Given the description of an element on the screen output the (x, y) to click on. 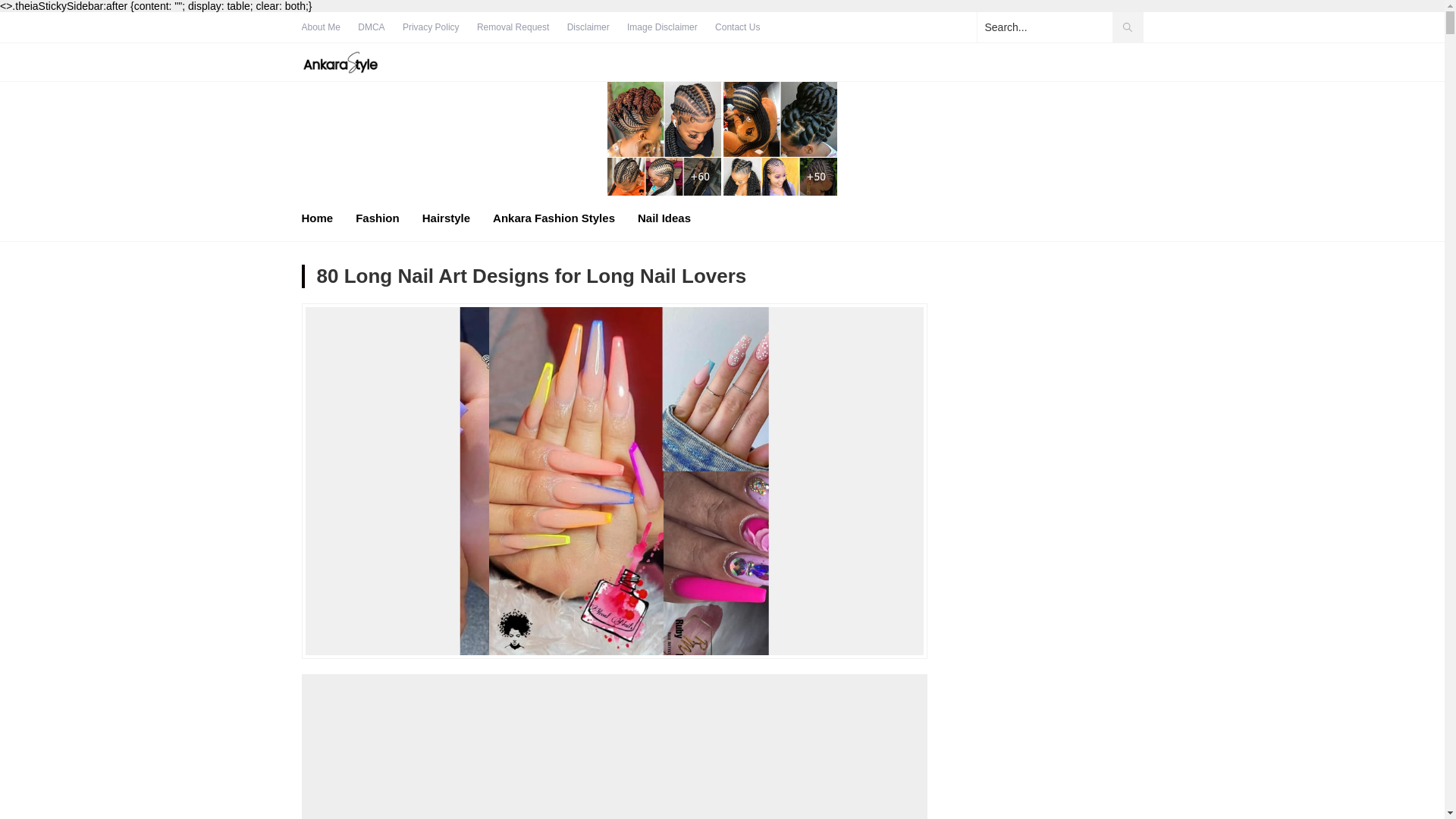
Removal Request (512, 27)
Disclaimer (588, 27)
Privacy Policy (431, 27)
Fashion ideas (339, 61)
DMCA (371, 27)
Nail Ideas (663, 217)
Ankara Fashion Styles (553, 217)
Fashion (376, 217)
Search... (1058, 27)
About Me (320, 27)
